Given the description of an element on the screen output the (x, y) to click on. 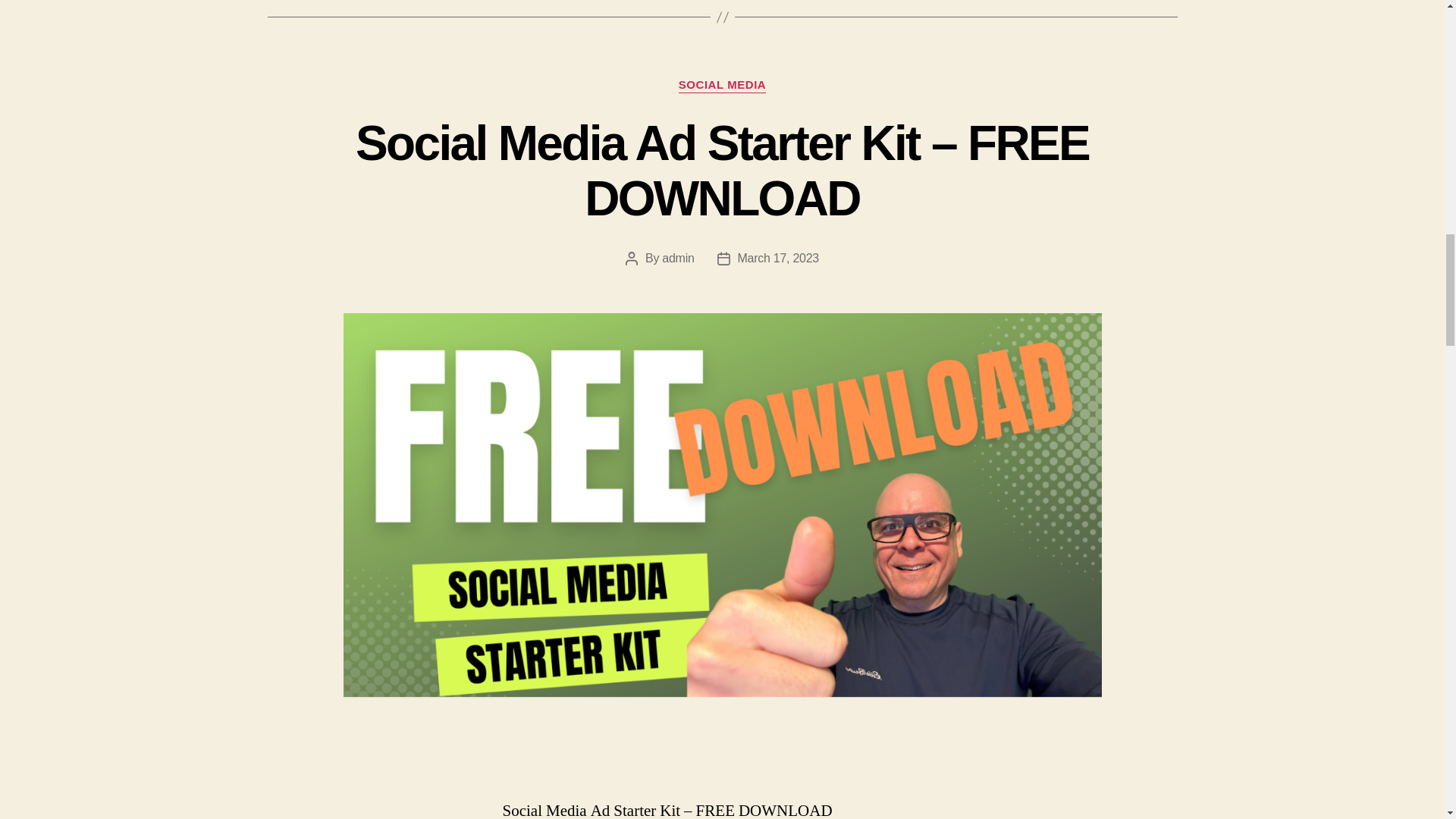
SOCIAL MEDIA (722, 85)
March 17, 2023 (778, 257)
admin (678, 257)
